Given the description of an element on the screen output the (x, y) to click on. 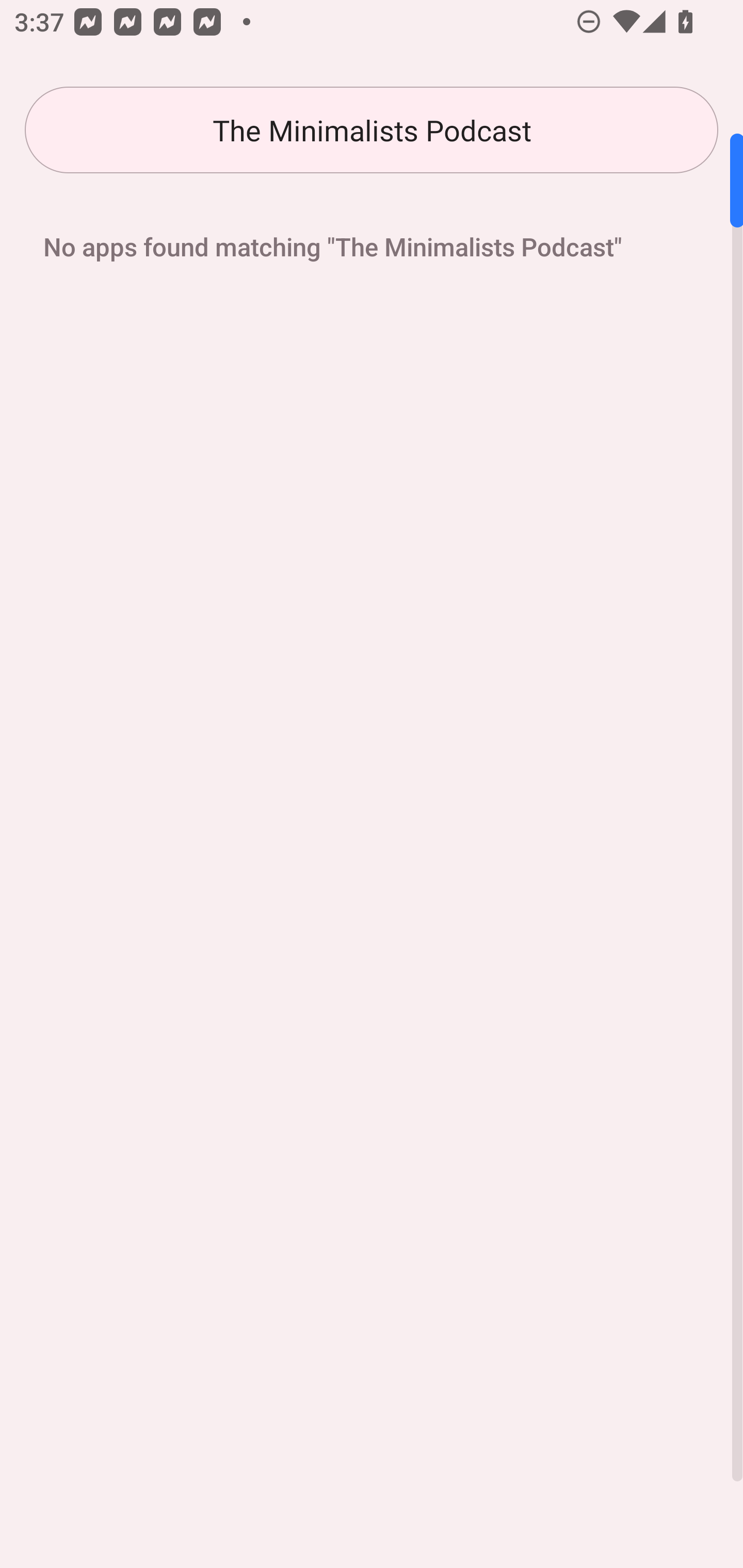
The Minimalists Podcast (371, 130)
